Given the description of an element on the screen output the (x, y) to click on. 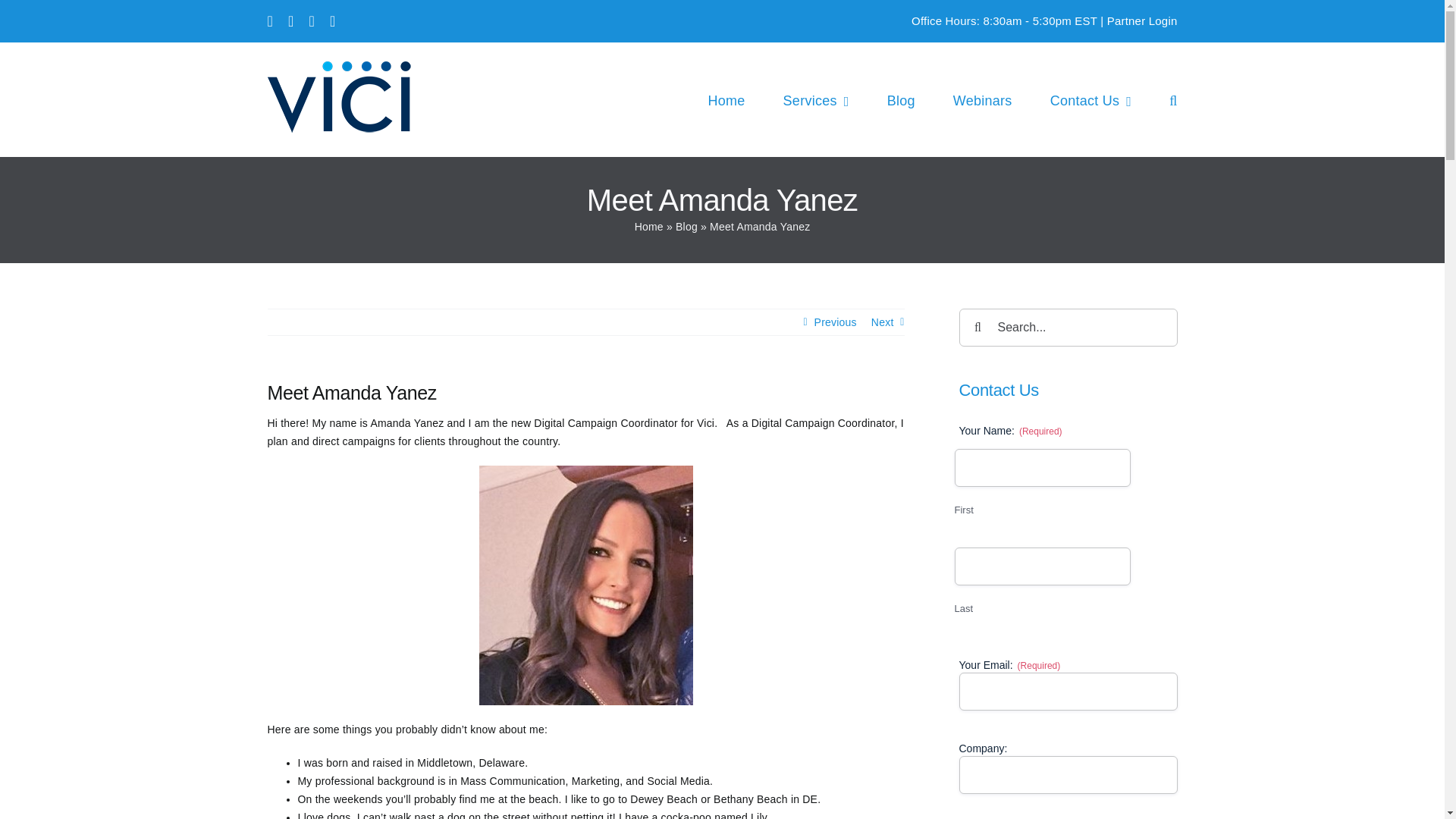
Partner Login (1141, 20)
